Given the description of an element on the screen output the (x, y) to click on. 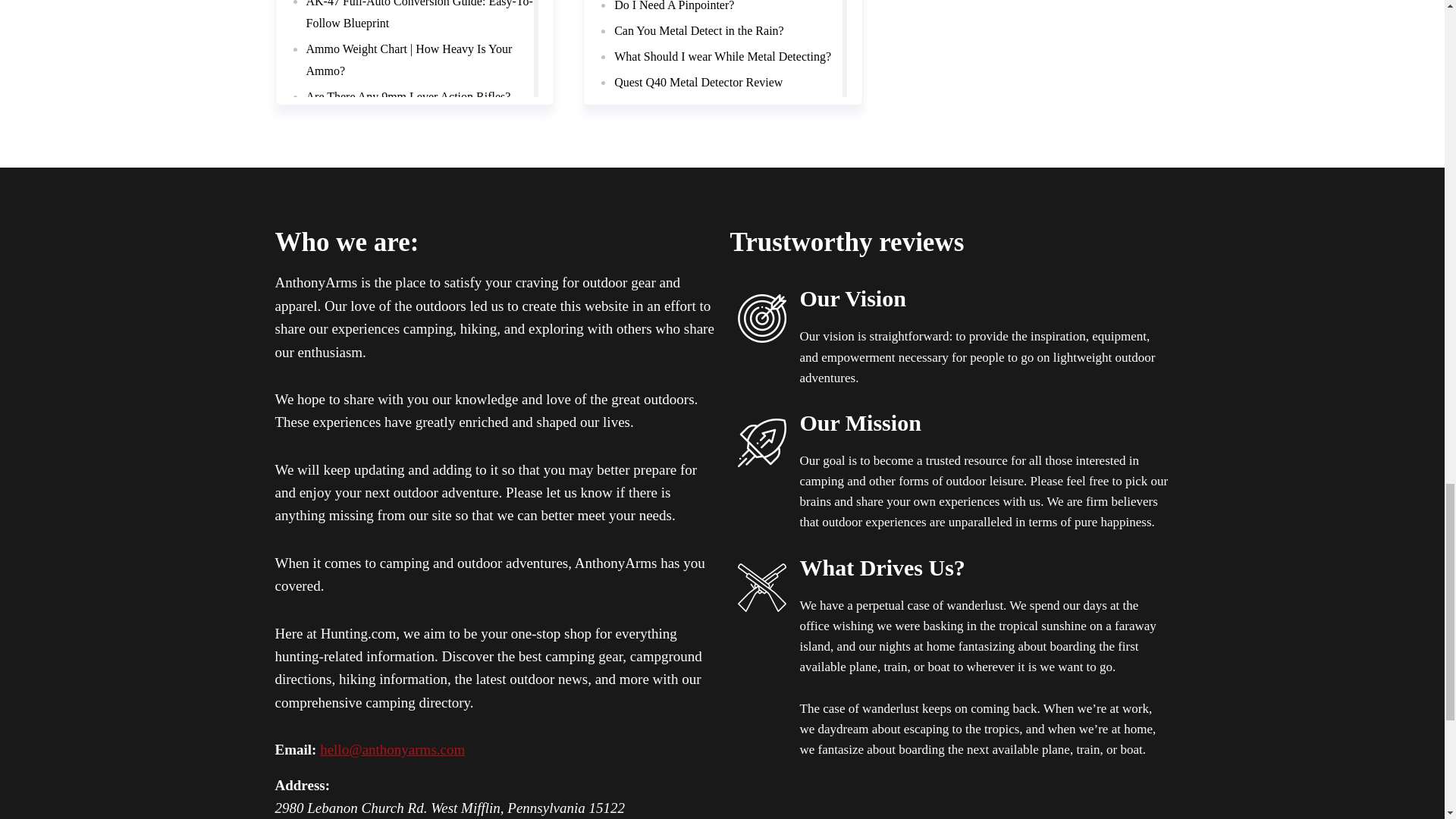
Archery Guide for Beginners (376, 15)
Duck Hunting Tips for Beginners (386, 42)
Best Binoculars for Hunting (374, 67)
Best Hunting Knife Sharpeners (381, 92)
Best Bow Hunting Backpacks (378, 119)
